Given the description of an element on the screen output the (x, y) to click on. 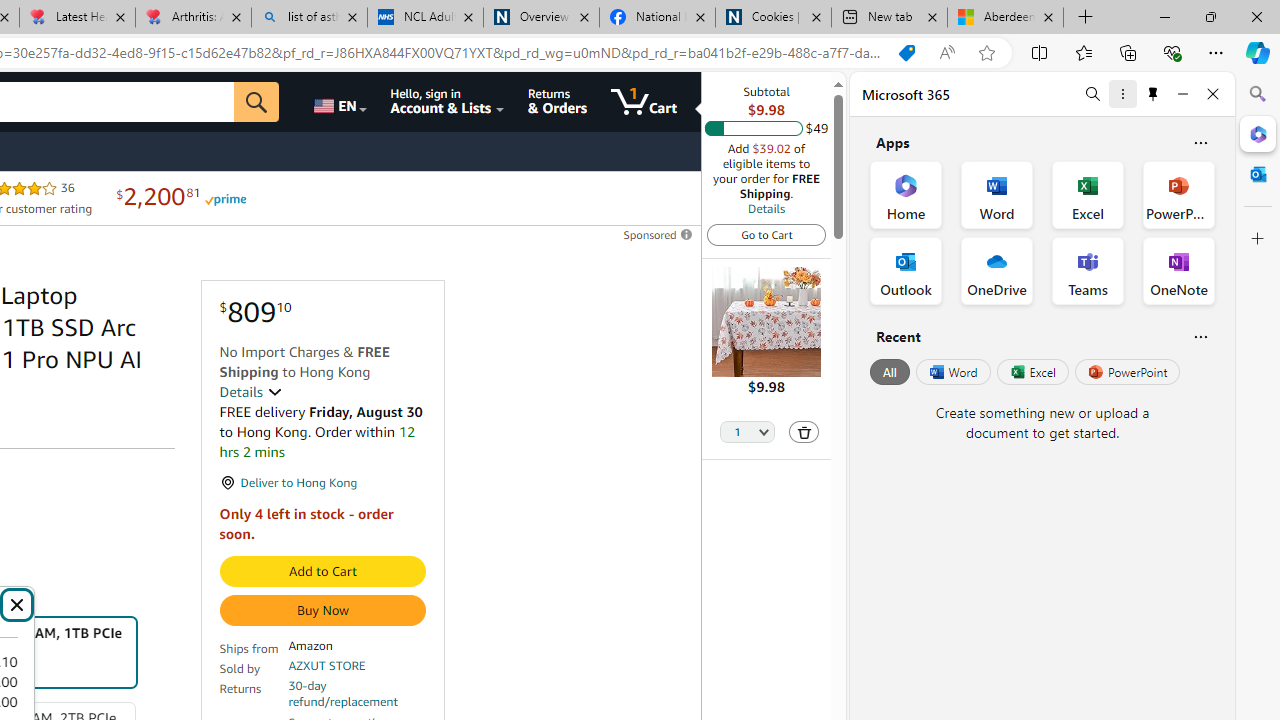
30-day refund/replacement (357, 693)
Buy Now (322, 610)
Excel (1031, 372)
OneNote Office App (1178, 270)
Details (765, 208)
Details  (250, 391)
Delete (804, 431)
PowerPoint (1127, 372)
